Given the description of an element on the screen output the (x, y) to click on. 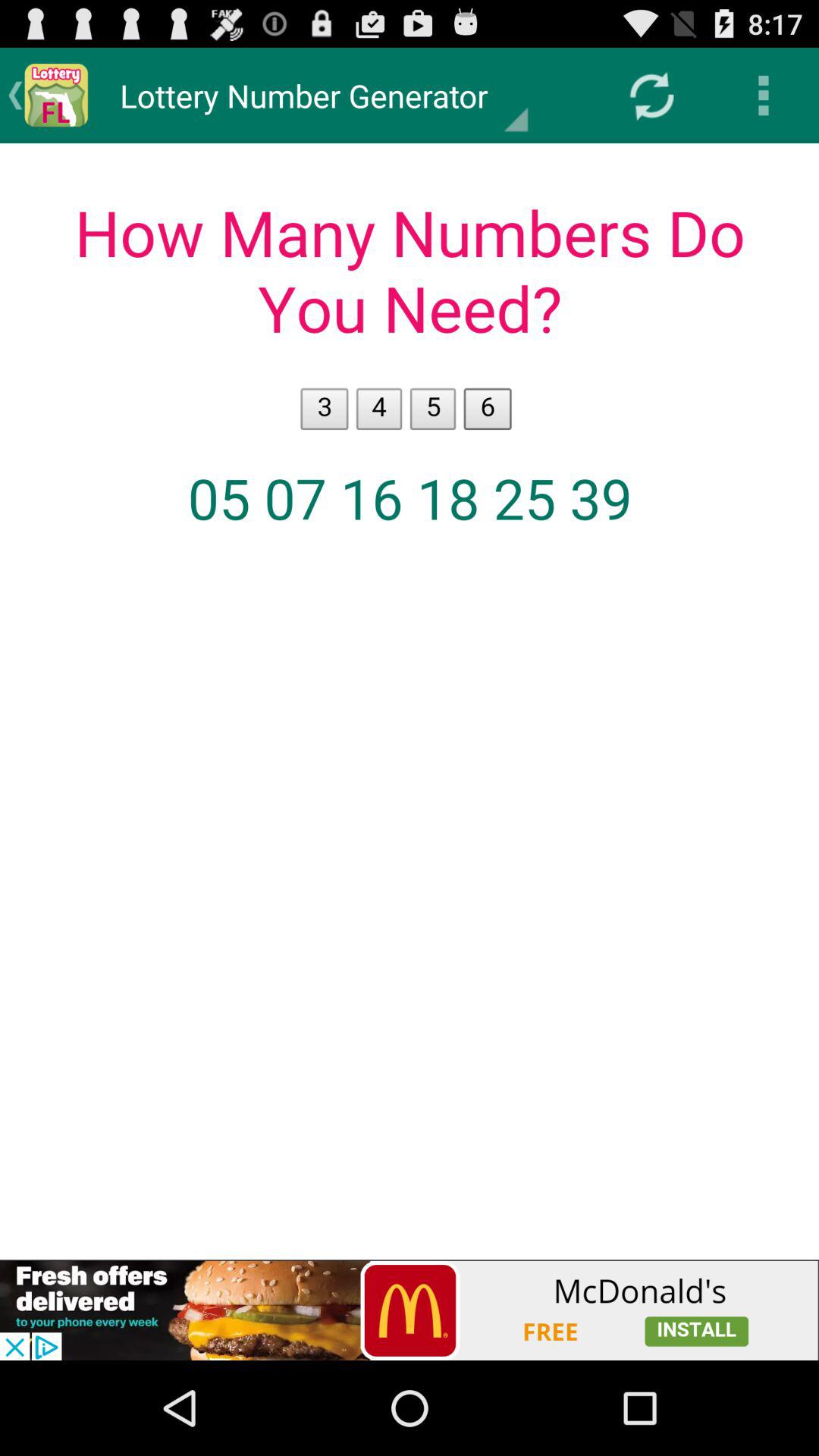
screen display (409, 701)
